Given the description of an element on the screen output the (x, y) to click on. 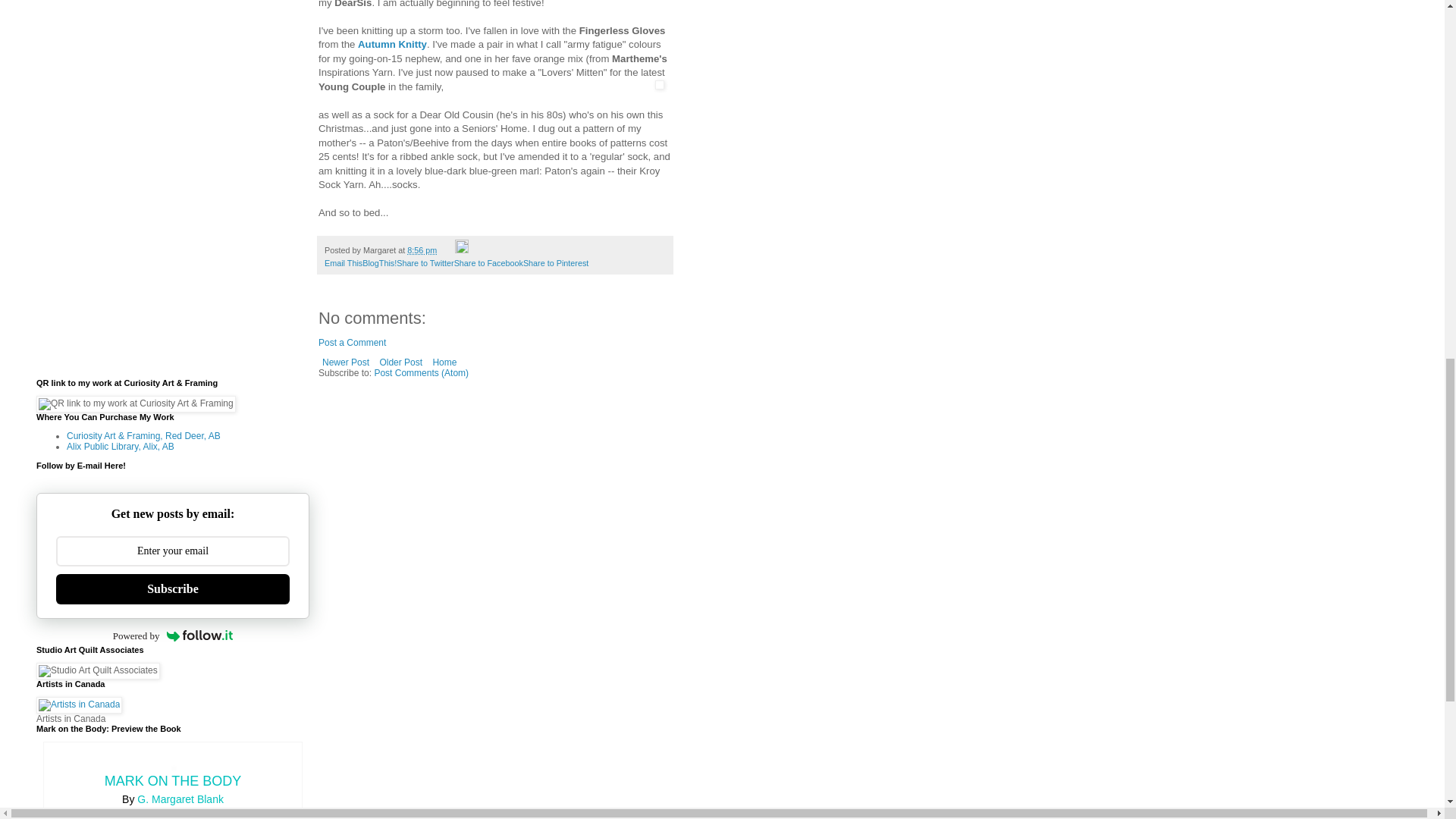
G. Margaret Blank (180, 799)
Newer Post (345, 361)
Post a Comment (351, 342)
Subscribe (172, 589)
Share to Pinterest (555, 262)
Share to Pinterest (555, 262)
Edit Post (461, 249)
permanent link (421, 249)
Newer Post (345, 361)
Share to Twitter (424, 262)
Share to Facebook (488, 262)
Older Post (400, 361)
Autumn Knitty (392, 43)
Share to Facebook (488, 262)
Email This (343, 262)
